Given the description of an element on the screen output the (x, y) to click on. 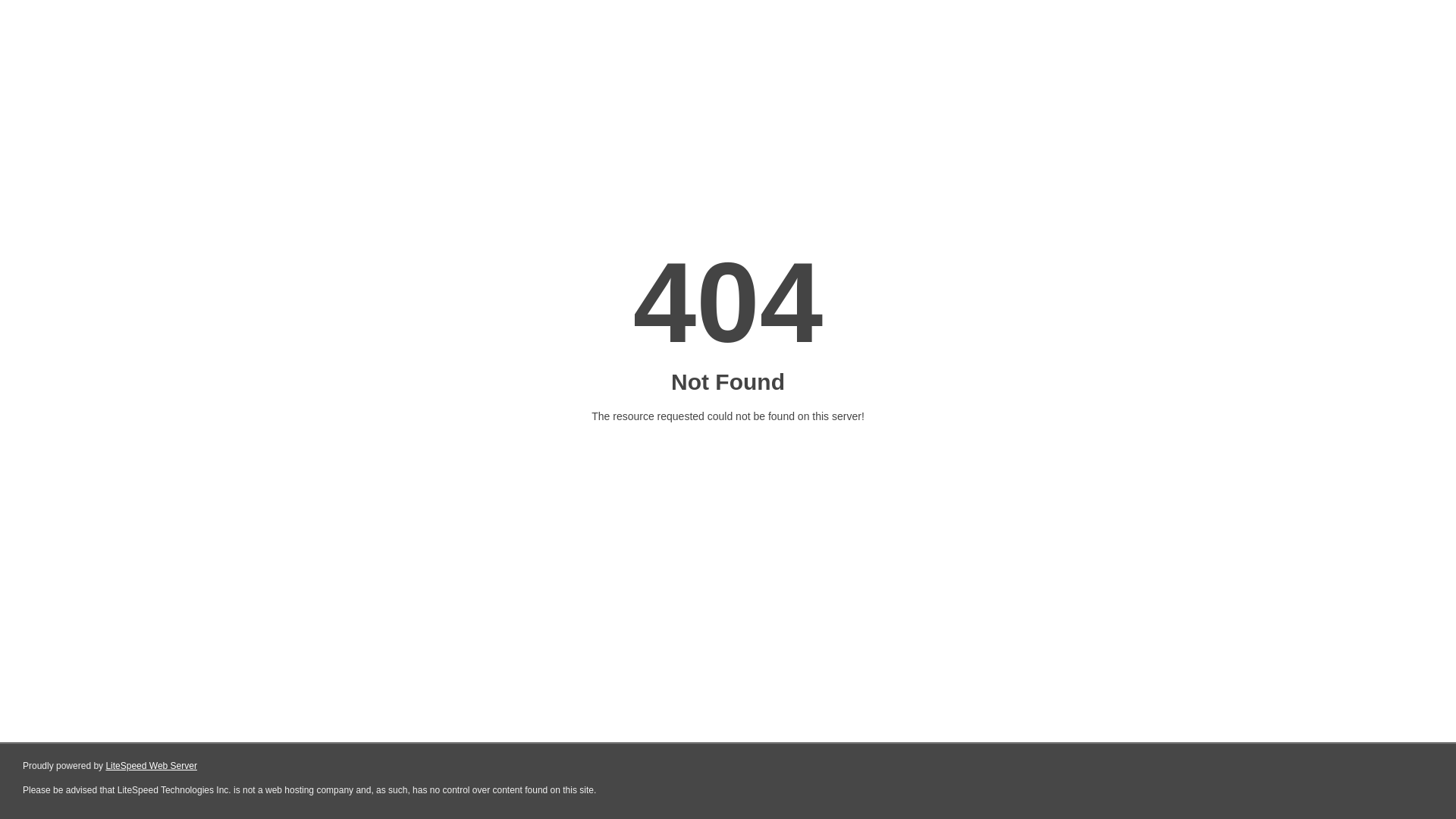
LiteSpeed Web Server Element type: text (151, 765)
